Given the description of an element on the screen output the (x, y) to click on. 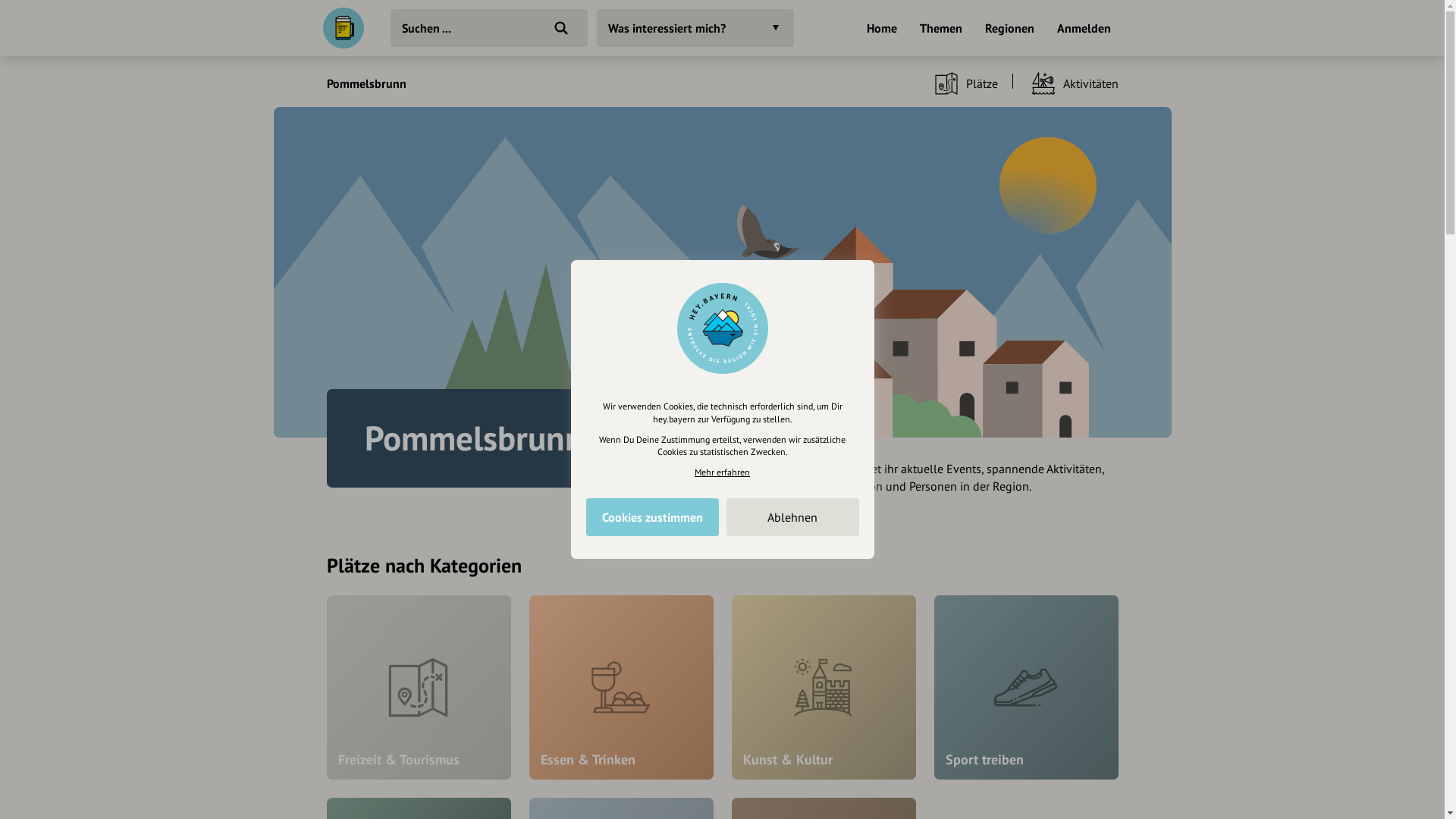
Freizeit & Tourismus Element type: text (418, 687)
Ablehnen Element type: text (792, 517)
Anmelden Element type: text (1083, 29)
Themen Element type: text (940, 29)
Essen & Trinken Element type: text (621, 687)
Home Element type: text (881, 29)
Kunst & Kultur Element type: text (823, 687)
Pommelsbrunn Element type: text (365, 83)
Sport treiben Element type: text (1026, 687)
Mehr erfahren Element type: text (721, 471)
Regionen Element type: text (1008, 29)
Was interessiert mich? Element type: text (694, 28)
Cookies zustimmen Element type: text (651, 517)
